Given the description of an element on the screen output the (x, y) to click on. 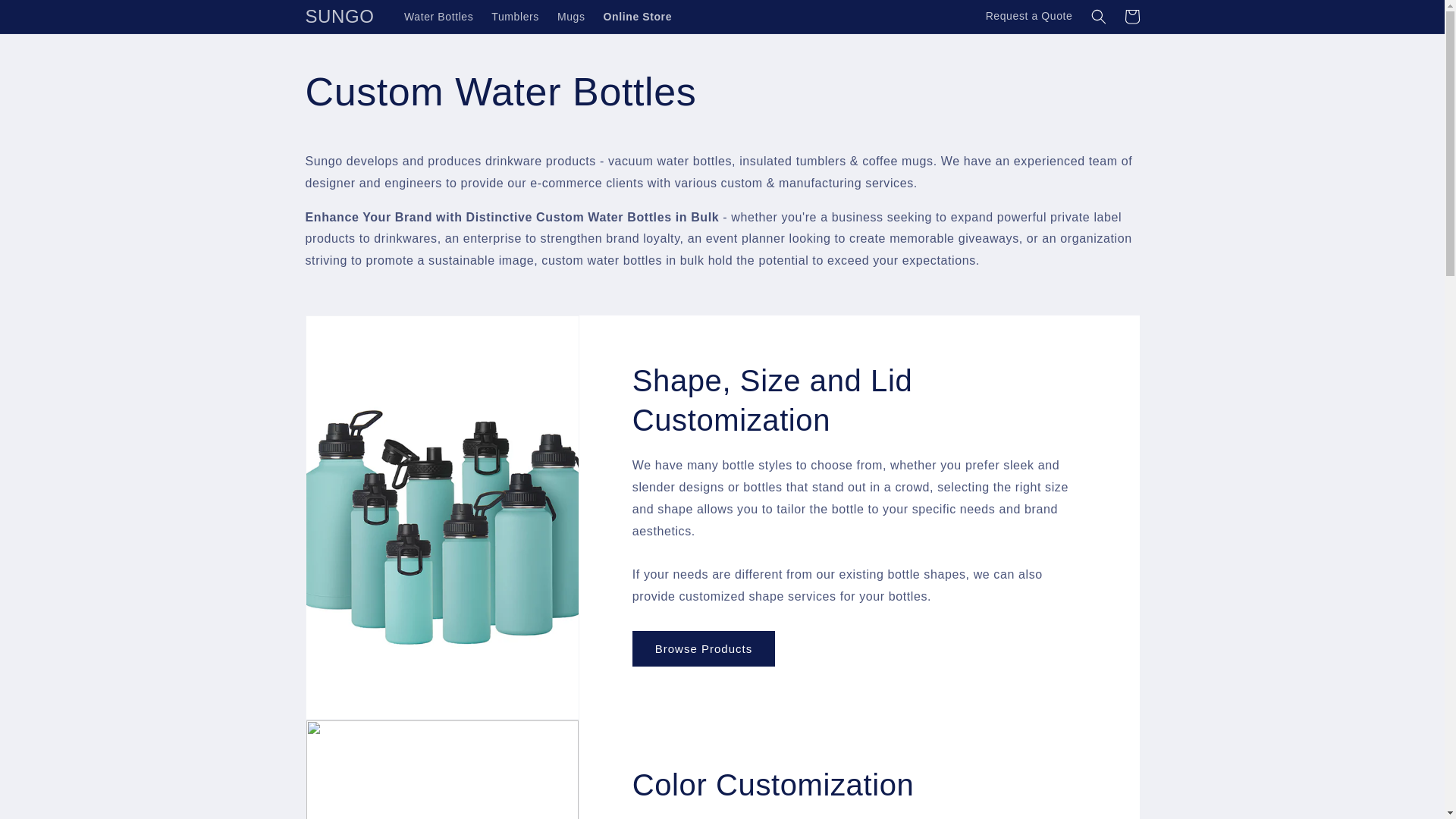
Cart (1131, 16)
Tumblers (514, 16)
Request a Quote (1028, 16)
Mugs (571, 16)
SUNGO (339, 16)
Skip to content (45, 17)
Water Bottles (437, 16)
Online Store (637, 16)
Browse Products (702, 648)
